Given the description of an element on the screen output the (x, y) to click on. 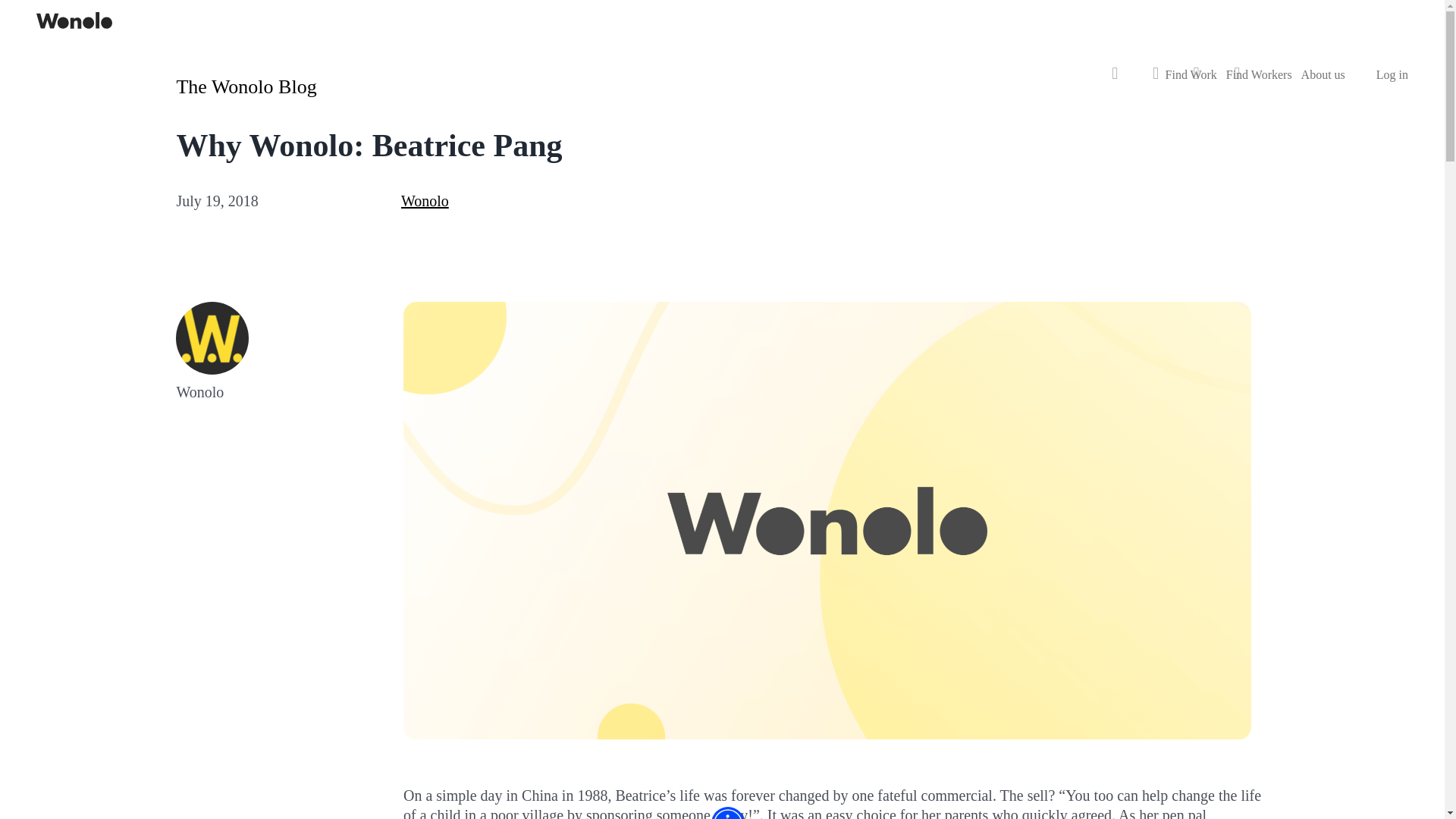
Accessibility Menu (727, 812)
About us (1331, 75)
Wonolo (424, 200)
Wonolo (424, 200)
Log in (1391, 75)
Find Work (1191, 75)
The Wonolo Blog (245, 86)
Find Workers (1258, 75)
